Given the description of an element on the screen output the (x, y) to click on. 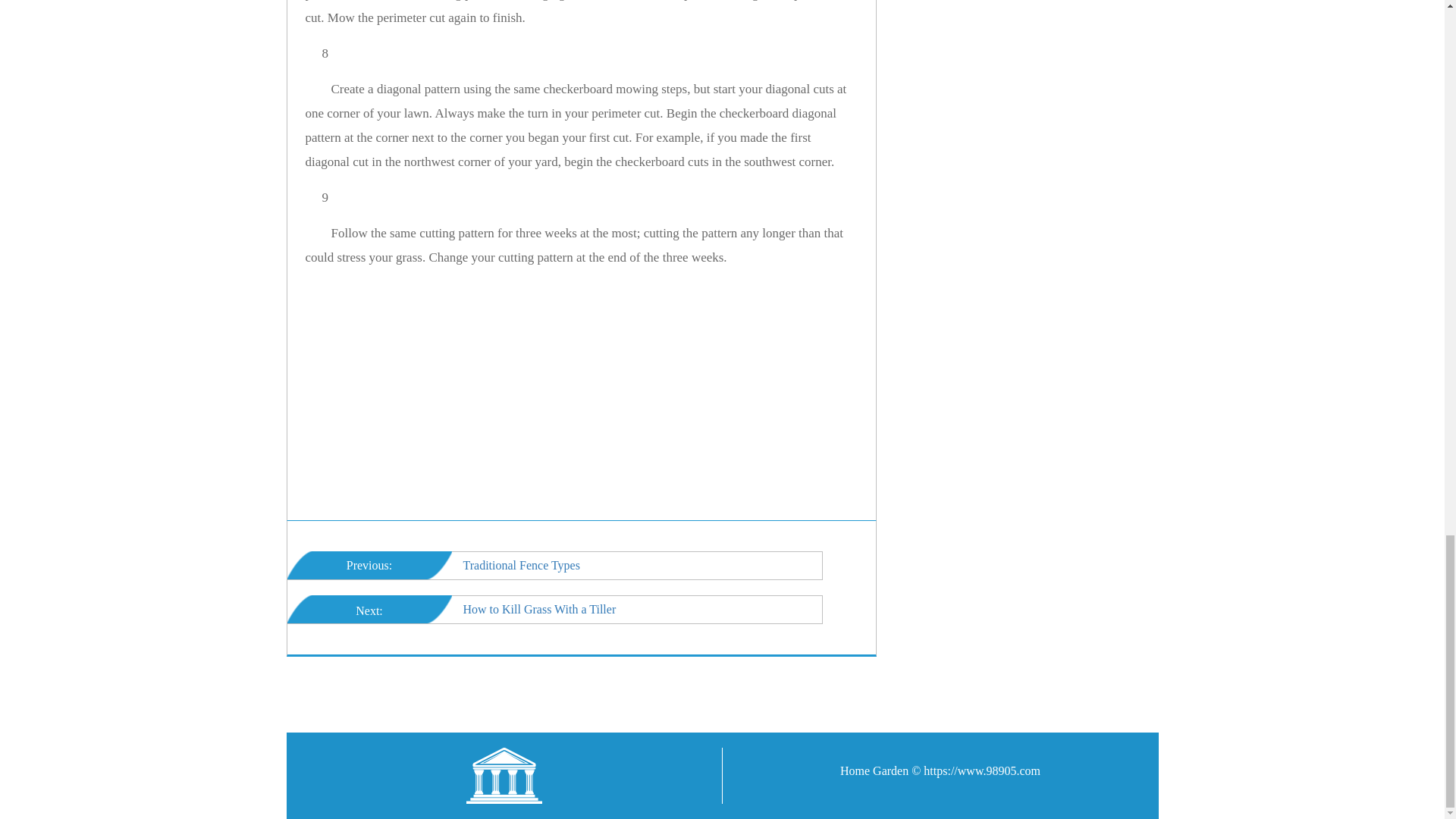
Traditional Fence Types (521, 564)
Advertisement (606, 395)
How to Kill Grass With a Tiller (539, 608)
